Given the description of an element on the screen output the (x, y) to click on. 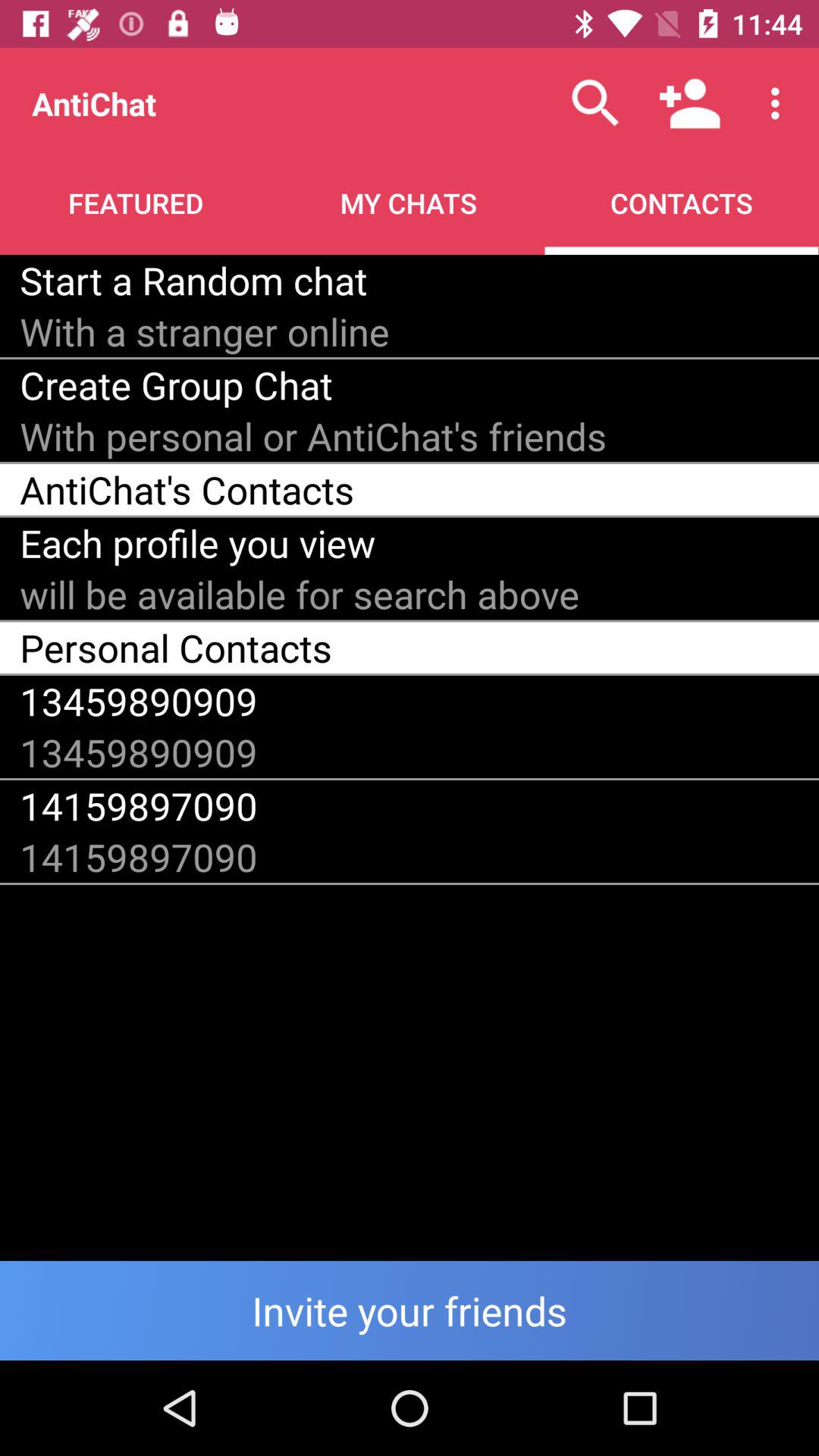
choose item above with personal or (175, 384)
